Given the description of an element on the screen output the (x, y) to click on. 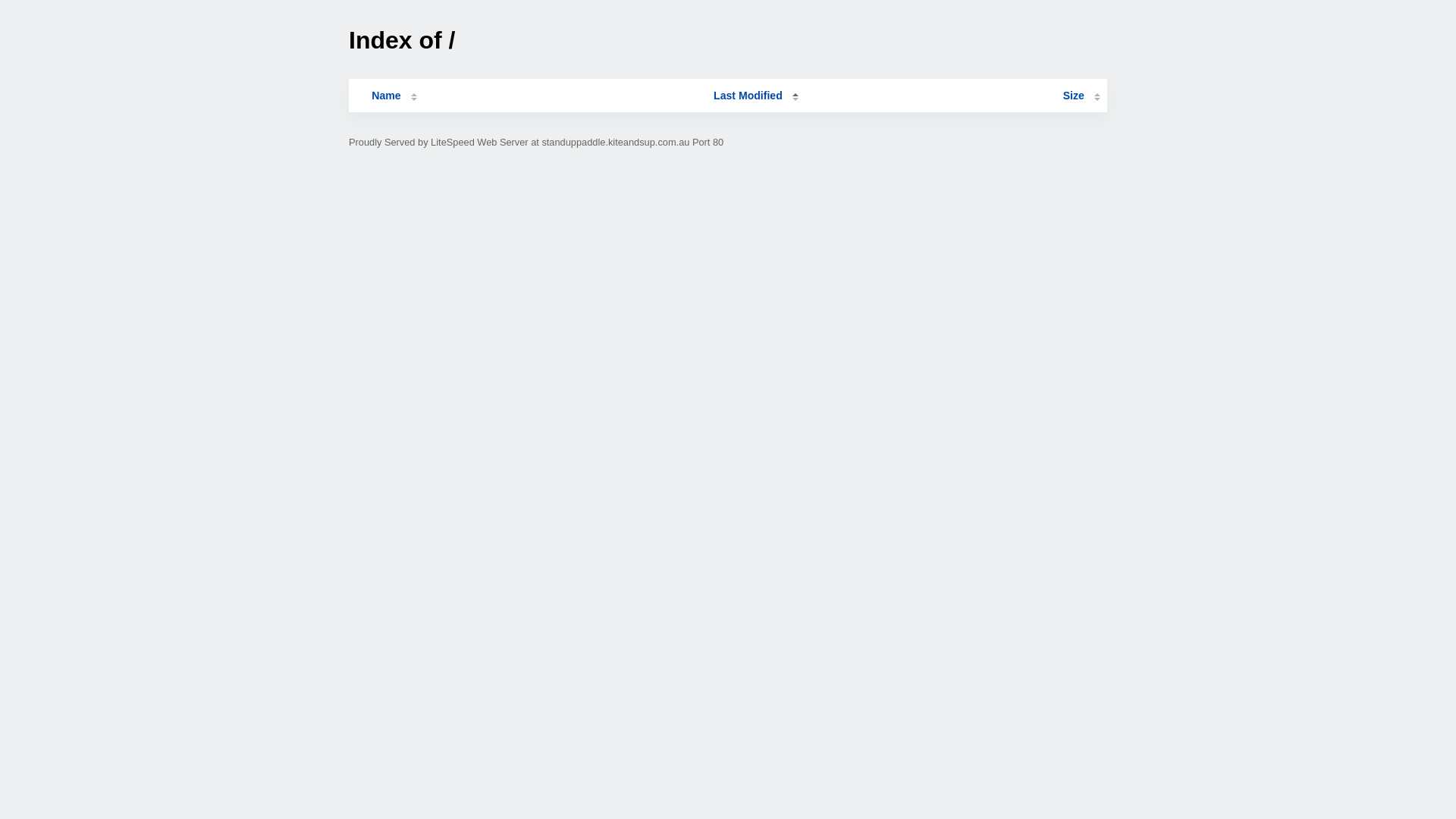
Name Element type: text (385, 95)
Size Element type: text (1081, 95)
Last Modified Element type: text (755, 95)
